Given the description of an element on the screen output the (x, y) to click on. 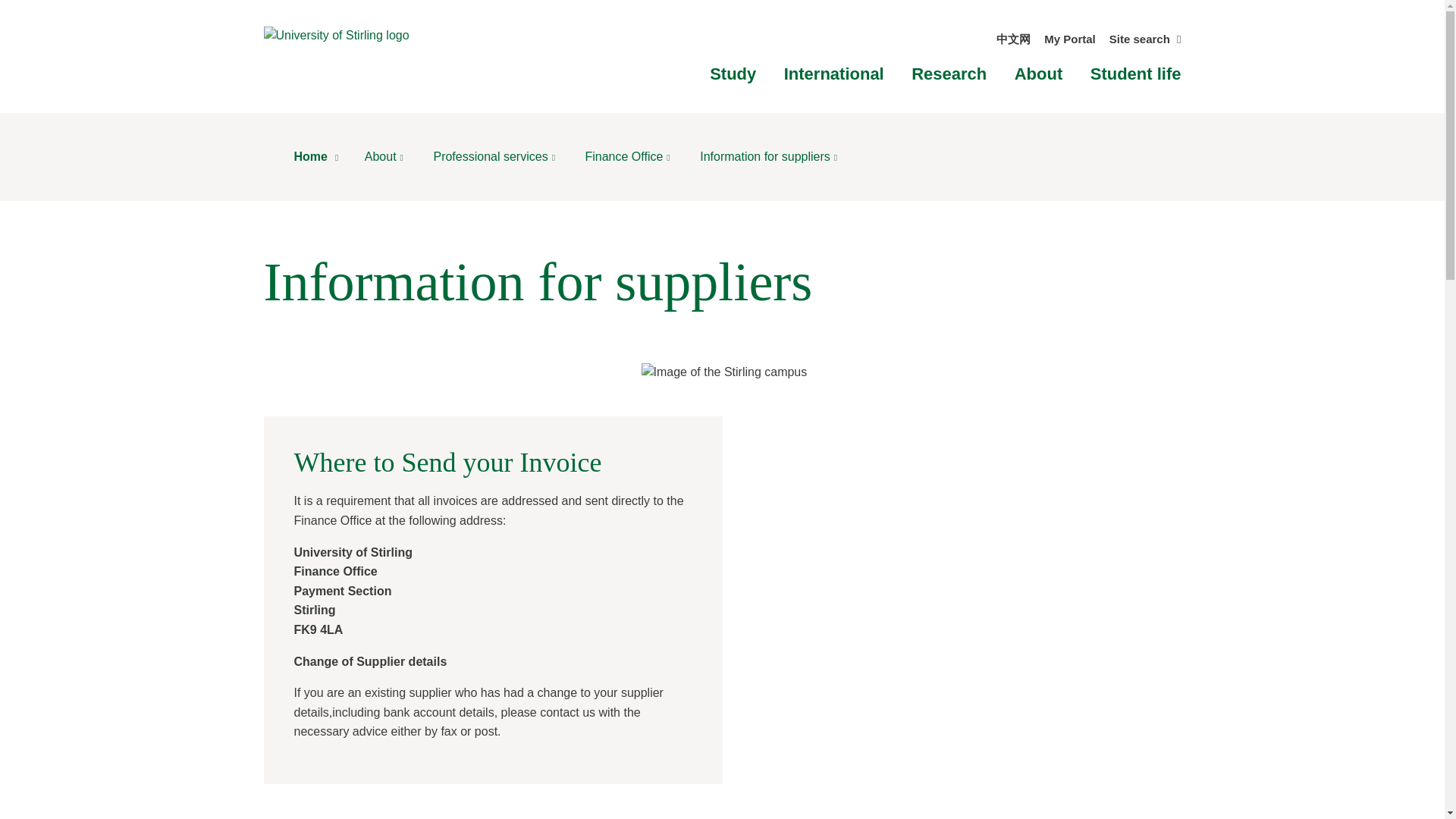
About (388, 157)
Home (318, 157)
My Portal (1069, 38)
International (833, 73)
Student life (1135, 73)
Study (732, 73)
Research (949, 73)
Site search (1144, 38)
University of Stirling (336, 33)
About (1038, 73)
